Given the description of an element on the screen output the (x, y) to click on. 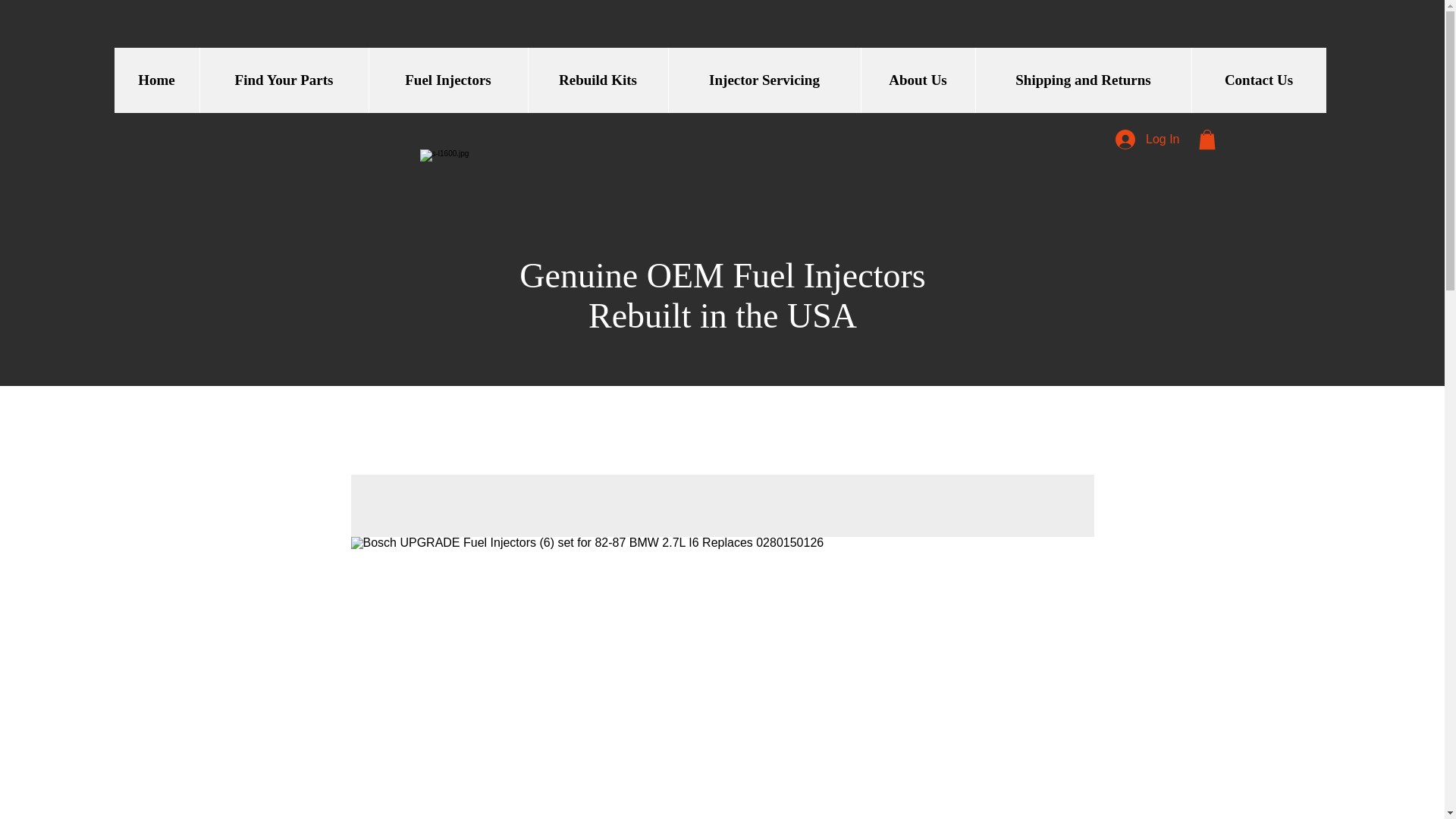
Fuel Injectors (447, 80)
Find Your Parts (283, 80)
Home (155, 80)
